Given the description of an element on the screen output the (x, y) to click on. 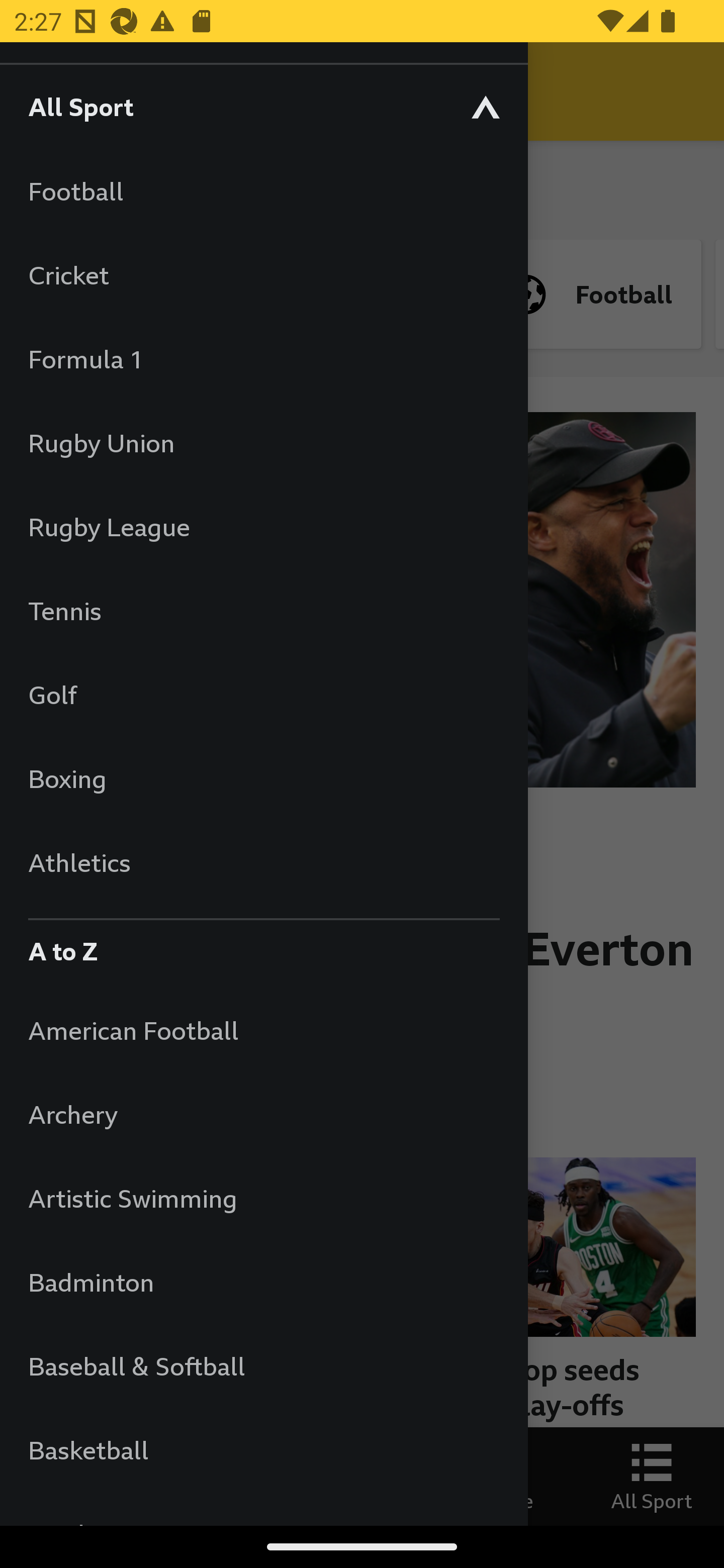
All Sport (263, 105)
Football (263, 190)
Cricket (263, 274)
Formula 1 (263, 358)
Rugby Union (263, 441)
Rugby League (263, 526)
Tennis (263, 609)
Golf (263, 694)
Boxing (263, 778)
Athletics (263, 862)
A to Z (263, 945)
American Football (263, 1029)
Archery (263, 1114)
Artistic Swimming (263, 1197)
Badminton (263, 1282)
Baseball & Softball (263, 1365)
Basketball (263, 1450)
